Given the description of an element on the screen output the (x, y) to click on. 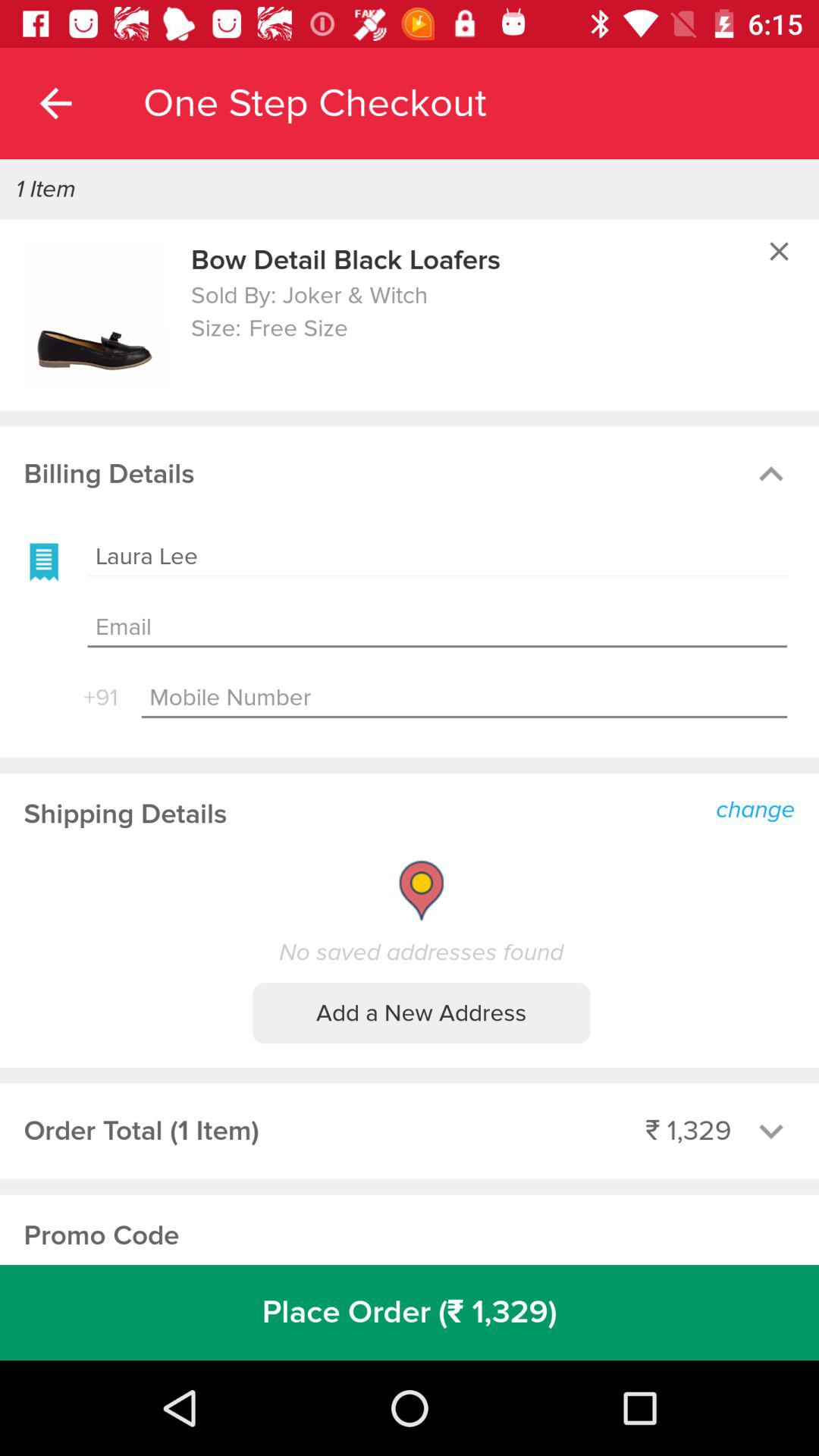
launch the item above the no saved addresses item (759, 807)
